Given the description of an element on the screen output the (x, y) to click on. 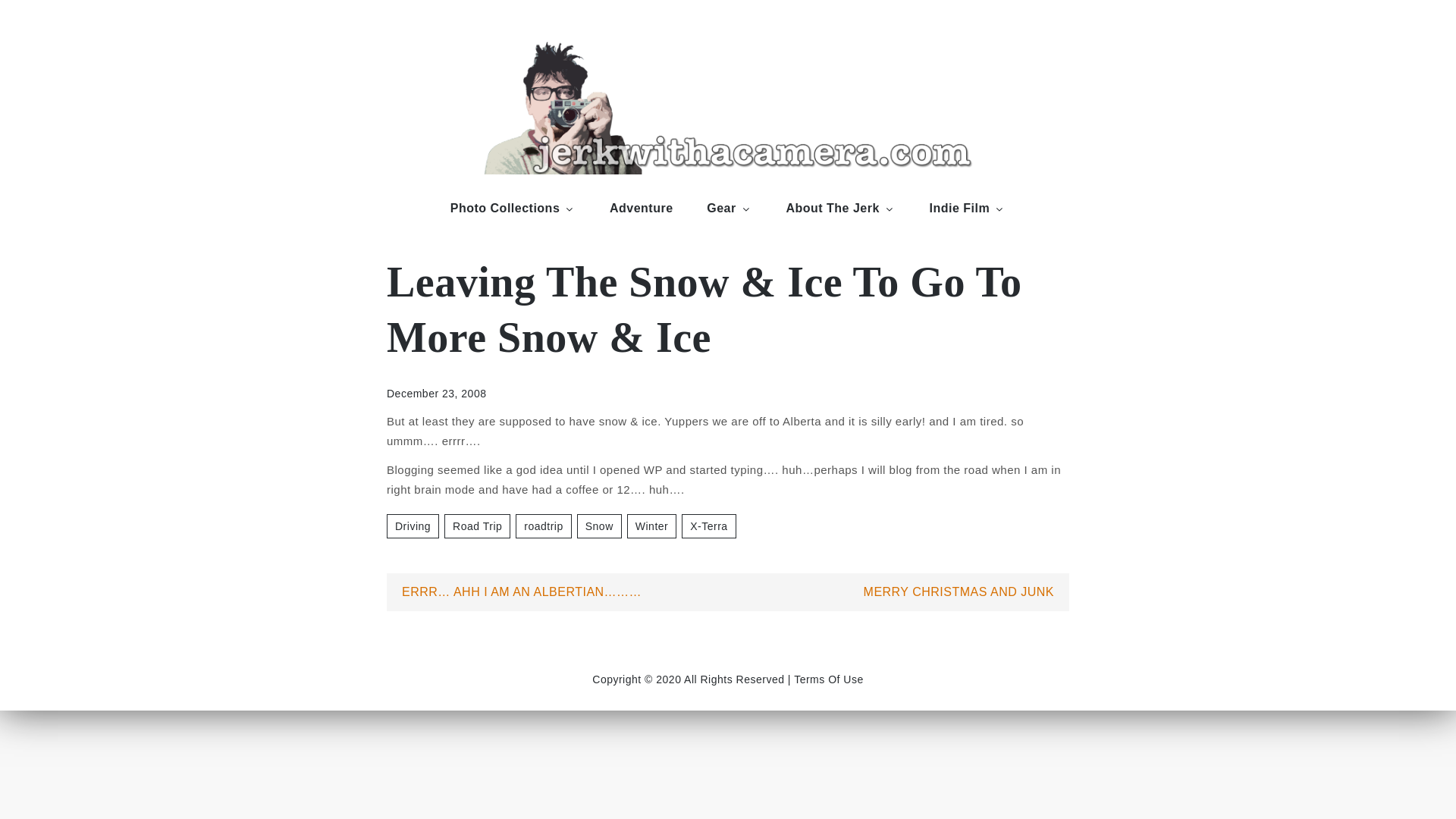
jerk with a camera (463, 189)
Photo Collections (513, 208)
Adventure (641, 208)
Gear (729, 208)
